Given the description of an element on the screen output the (x, y) to click on. 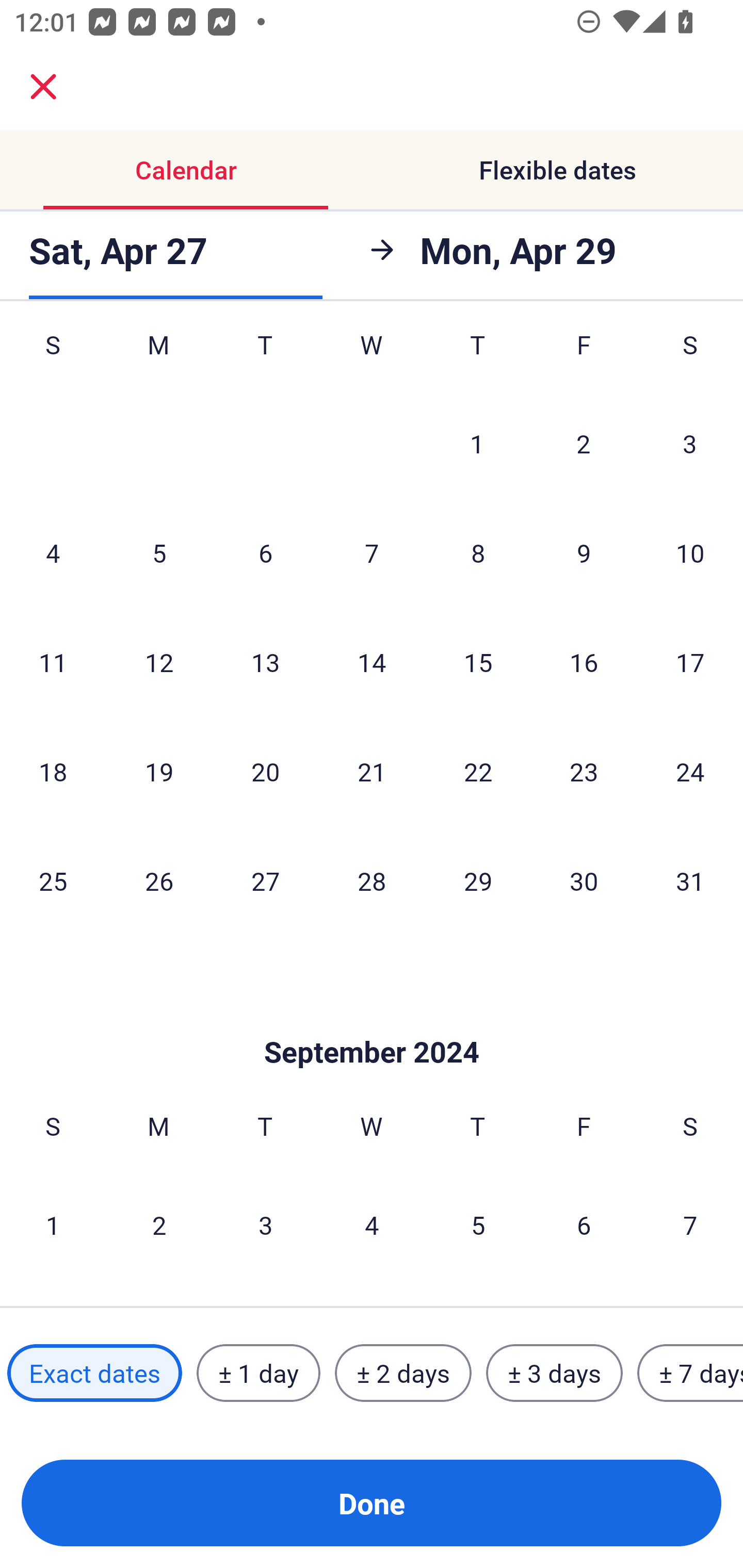
close. (43, 86)
Flexible dates (557, 170)
1 Thursday, August 1, 2024 (477, 442)
2 Friday, August 2, 2024 (583, 442)
3 Saturday, August 3, 2024 (689, 442)
4 Sunday, August 4, 2024 (53, 552)
5 Monday, August 5, 2024 (159, 552)
6 Tuesday, August 6, 2024 (265, 552)
7 Wednesday, August 7, 2024 (371, 552)
8 Thursday, August 8, 2024 (477, 552)
9 Friday, August 9, 2024 (584, 552)
10 Saturday, August 10, 2024 (690, 552)
11 Sunday, August 11, 2024 (53, 661)
12 Monday, August 12, 2024 (159, 661)
13 Tuesday, August 13, 2024 (265, 661)
14 Wednesday, August 14, 2024 (371, 661)
15 Thursday, August 15, 2024 (477, 661)
16 Friday, August 16, 2024 (584, 661)
17 Saturday, August 17, 2024 (690, 661)
18 Sunday, August 18, 2024 (53, 771)
19 Monday, August 19, 2024 (159, 771)
20 Tuesday, August 20, 2024 (265, 771)
21 Wednesday, August 21, 2024 (371, 771)
22 Thursday, August 22, 2024 (477, 771)
23 Friday, August 23, 2024 (584, 771)
24 Saturday, August 24, 2024 (690, 771)
25 Sunday, August 25, 2024 (53, 879)
26 Monday, August 26, 2024 (159, 879)
27 Tuesday, August 27, 2024 (265, 879)
28 Wednesday, August 28, 2024 (371, 879)
29 Thursday, August 29, 2024 (477, 879)
30 Friday, August 30, 2024 (584, 879)
31 Saturday, August 31, 2024 (690, 879)
Skip to Done (371, 1021)
1 Sunday, September 1, 2024 (53, 1224)
2 Monday, September 2, 2024 (159, 1224)
3 Tuesday, September 3, 2024 (265, 1224)
4 Wednesday, September 4, 2024 (371, 1224)
5 Thursday, September 5, 2024 (477, 1224)
6 Friday, September 6, 2024 (584, 1224)
7 Saturday, September 7, 2024 (690, 1224)
Exact dates (94, 1372)
± 1 day (258, 1372)
± 2 days (403, 1372)
± 3 days (553, 1372)
± 7 days (690, 1372)
Done (371, 1502)
